Given the description of an element on the screen output the (x, y) to click on. 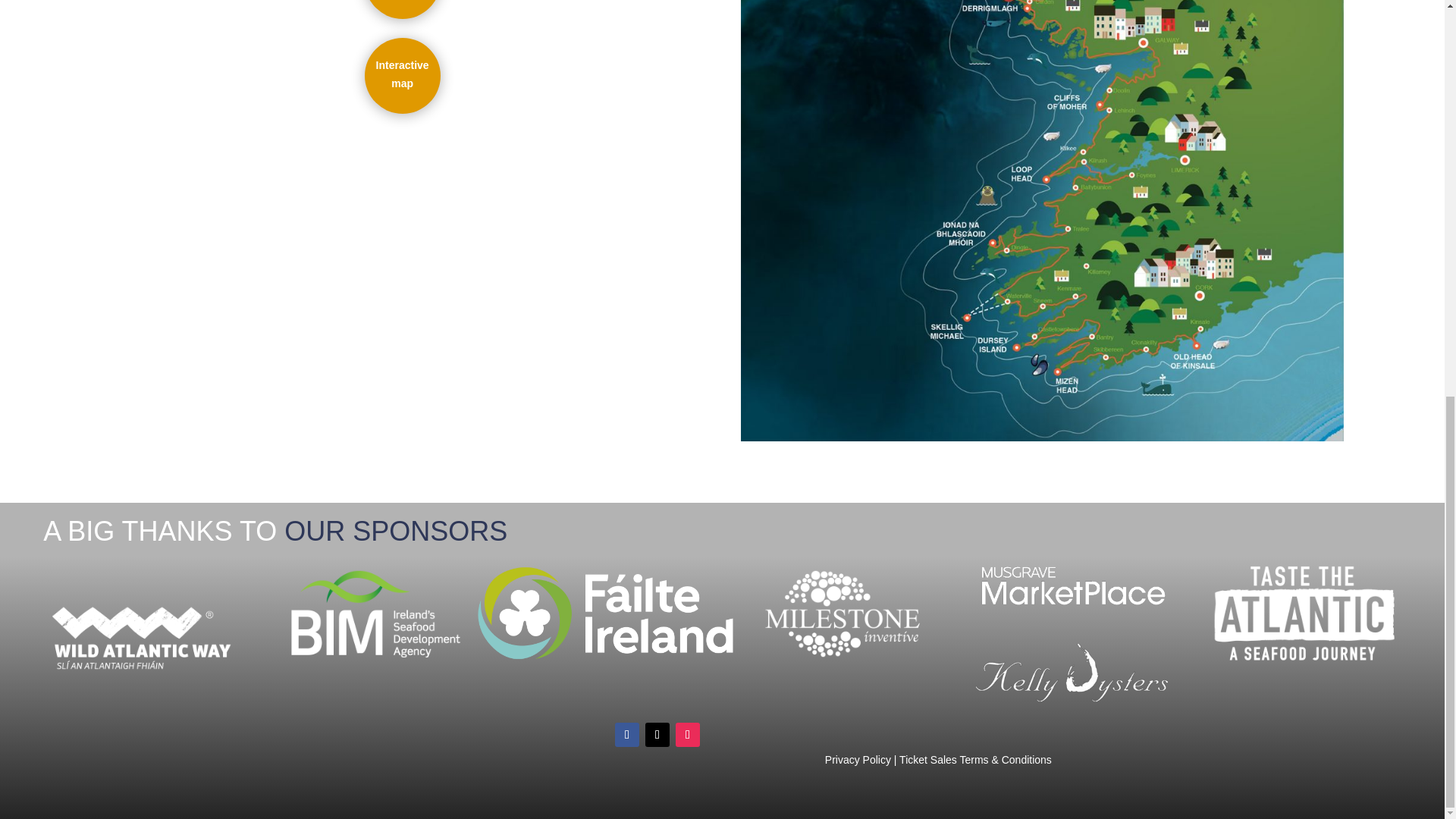
Follow on Facebook (626, 734)
Follow on Instagram (687, 734)
Follow on Twitter (657, 734)
